Given the description of an element on the screen output the (x, y) to click on. 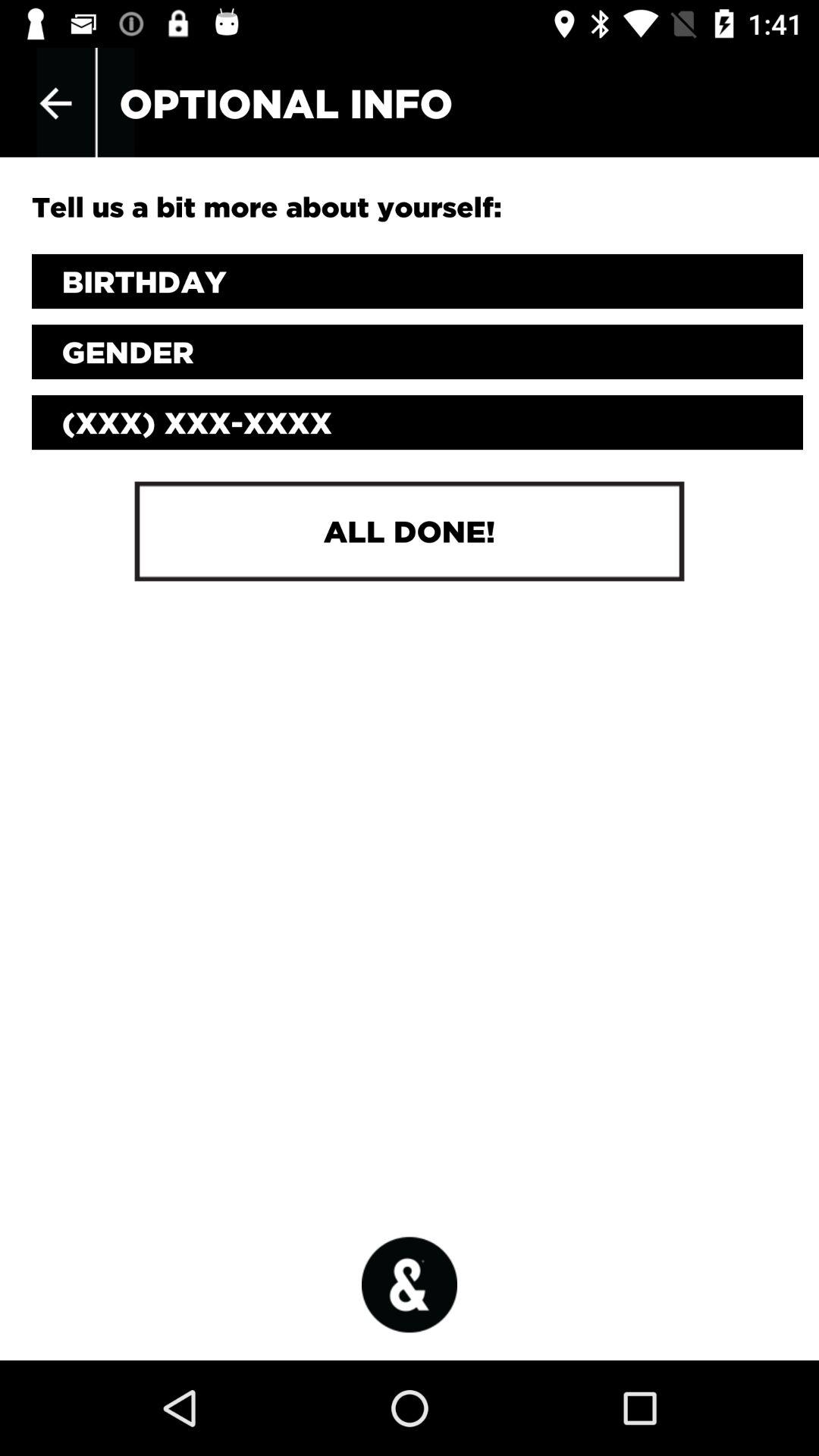
press the icon at the top left corner (55, 103)
